Given the description of an element on the screen output the (x, y) to click on. 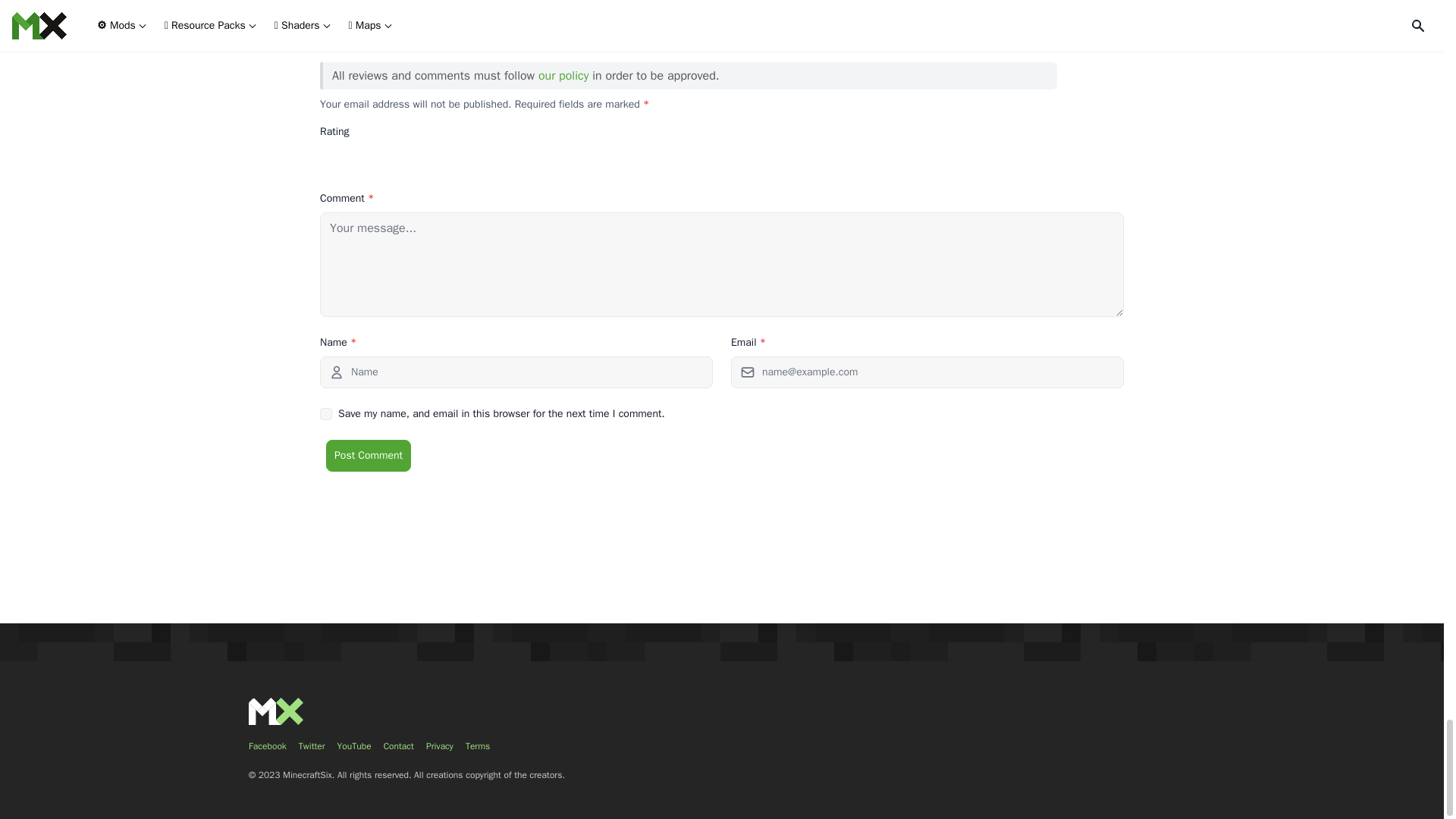
Post Comment (368, 455)
yes (325, 413)
MinecraftSix (275, 710)
